Given the description of an element on the screen output the (x, y) to click on. 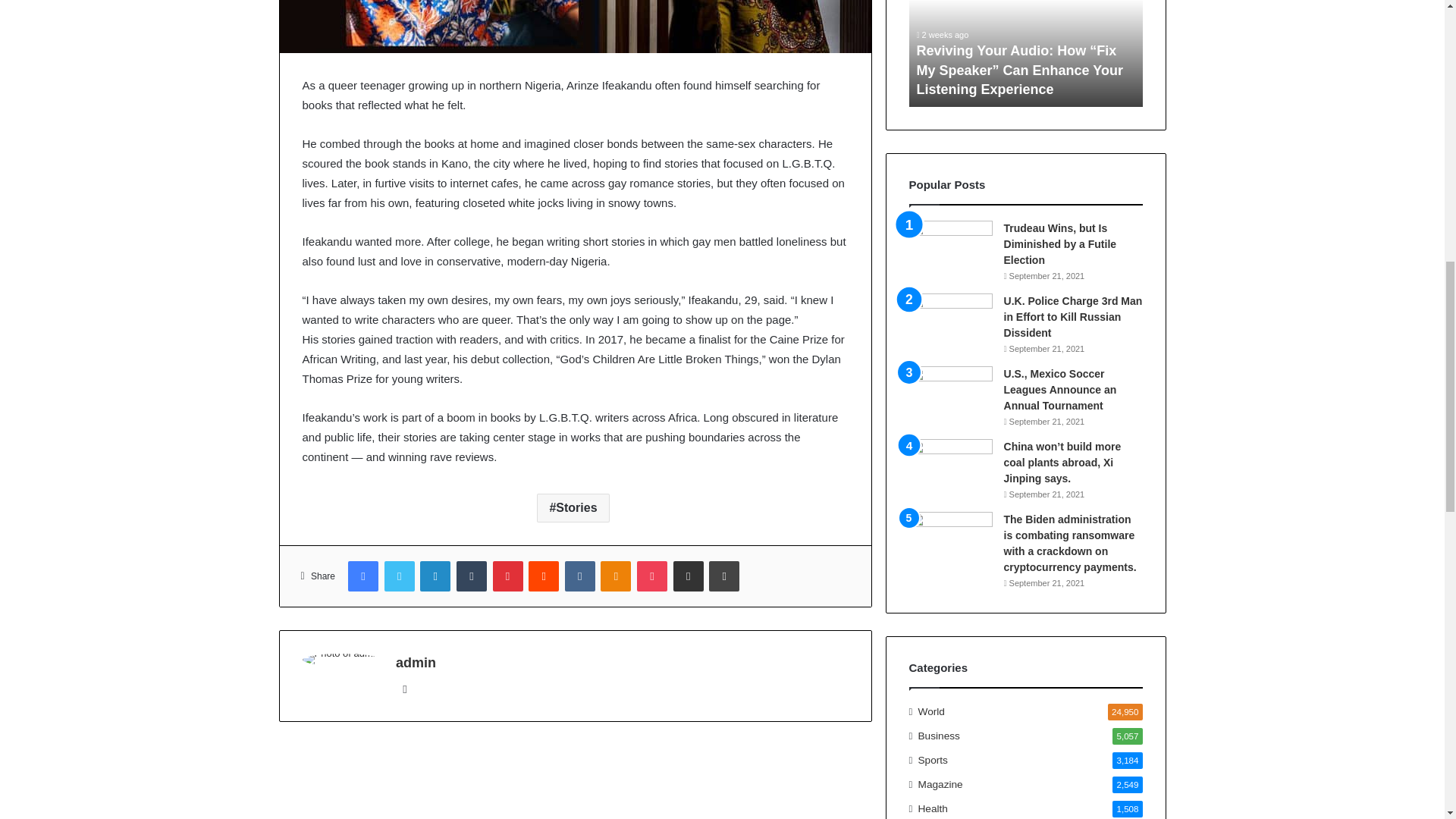
Stories (572, 507)
